Given the description of an element on the screen output the (x, y) to click on. 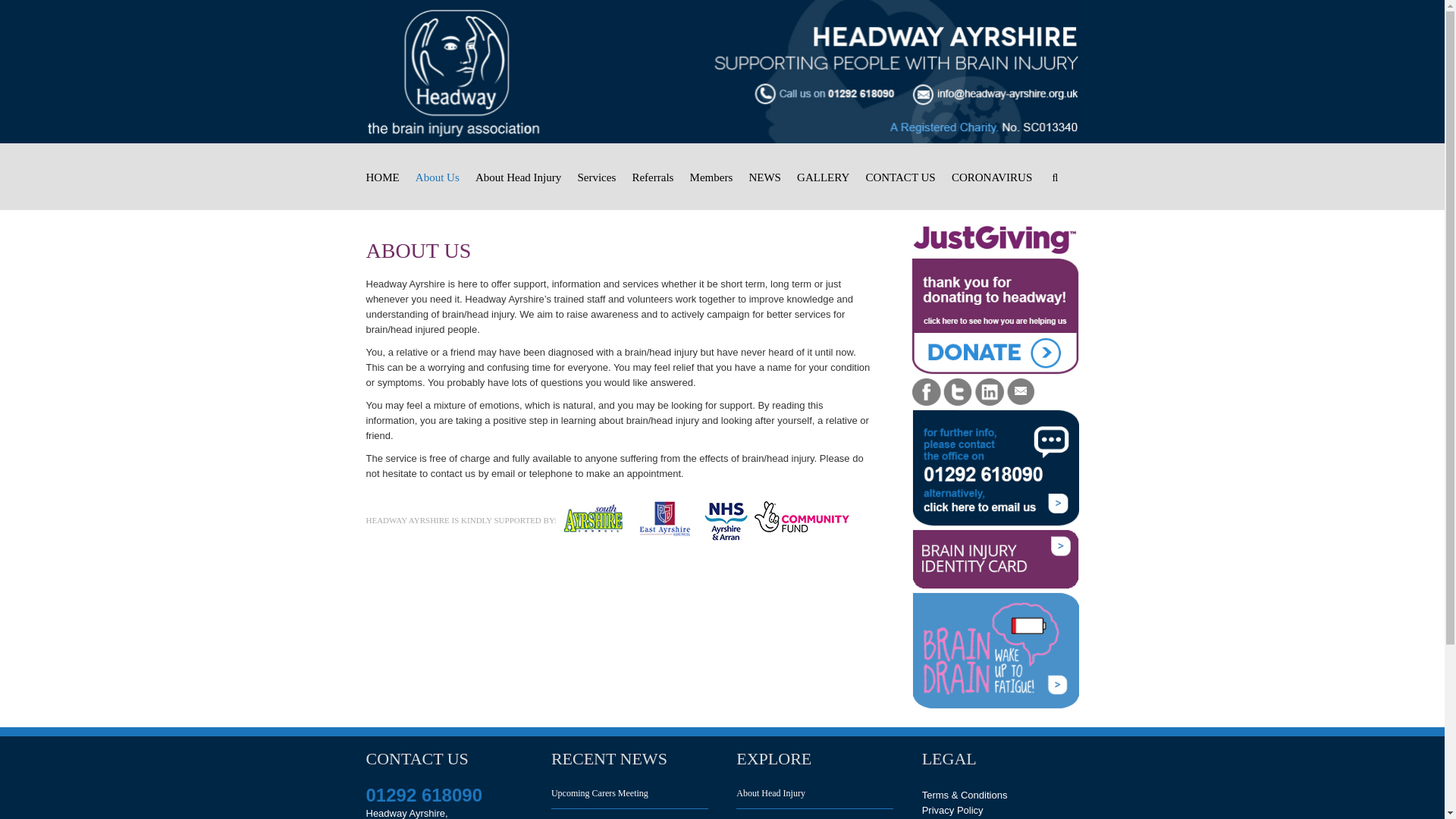
Contact Us (994, 467)
Upcoming Carers Meeting (629, 798)
Facebook (925, 384)
Brain Draine (994, 650)
Donate to Headway Ayrshire (994, 299)
Linkedin (989, 391)
Contact (1020, 391)
Twitter (957, 391)
CORONAVIRUS (992, 176)
CONTACT US (899, 176)
About Head Injury (518, 176)
Contact (1020, 384)
Brain Injury ID Card (994, 558)
Facebook (925, 391)
Twitter (957, 384)
